Given the description of an element on the screen output the (x, y) to click on. 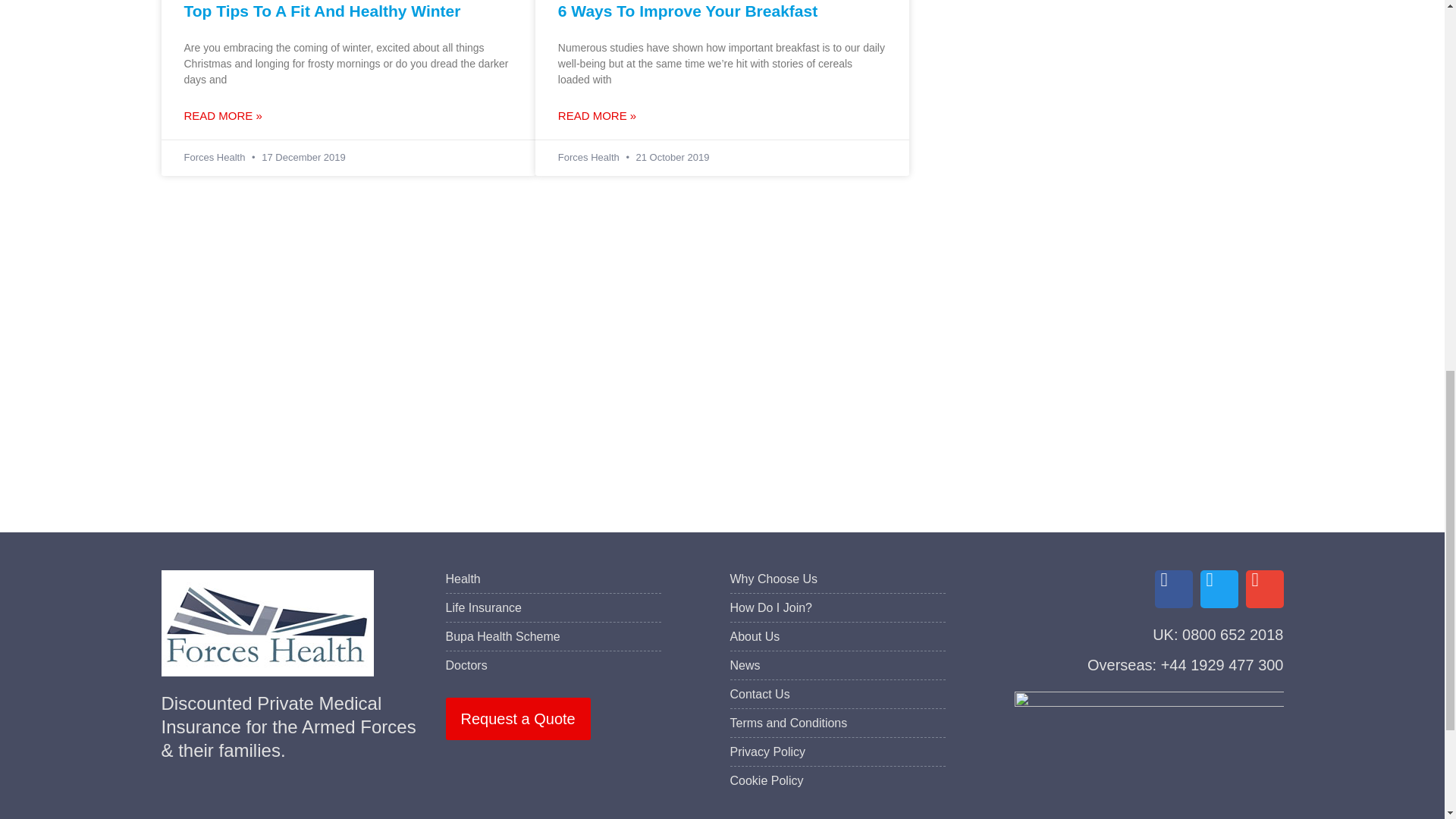
Top Tips To A Fit And Healthy Winter (321, 10)
